Given the description of an element on the screen output the (x, y) to click on. 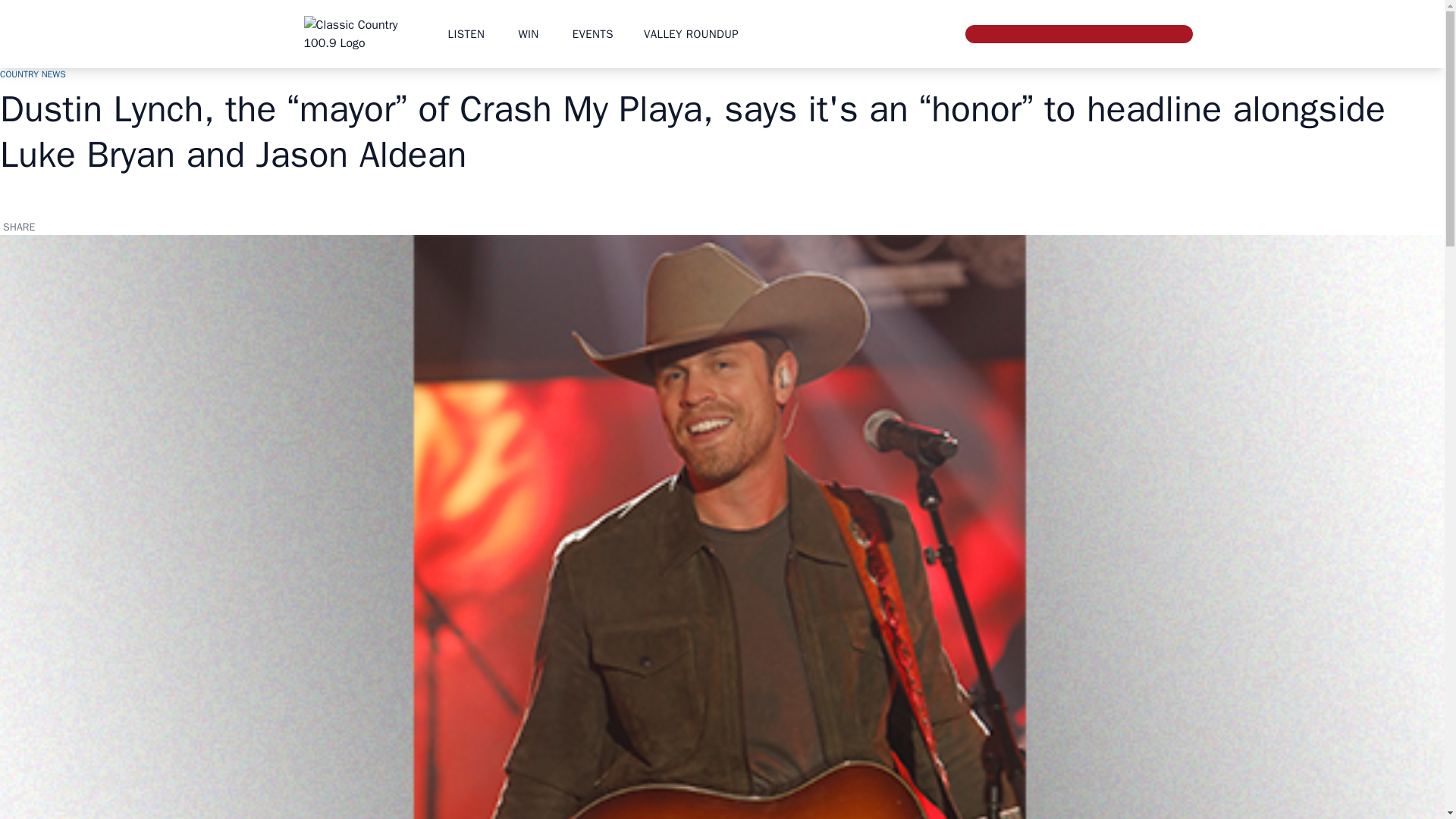
VALLEY ROUNDUP (690, 33)
Classic Country 100.9 (359, 33)
